Given the description of an element on the screen output the (x, y) to click on. 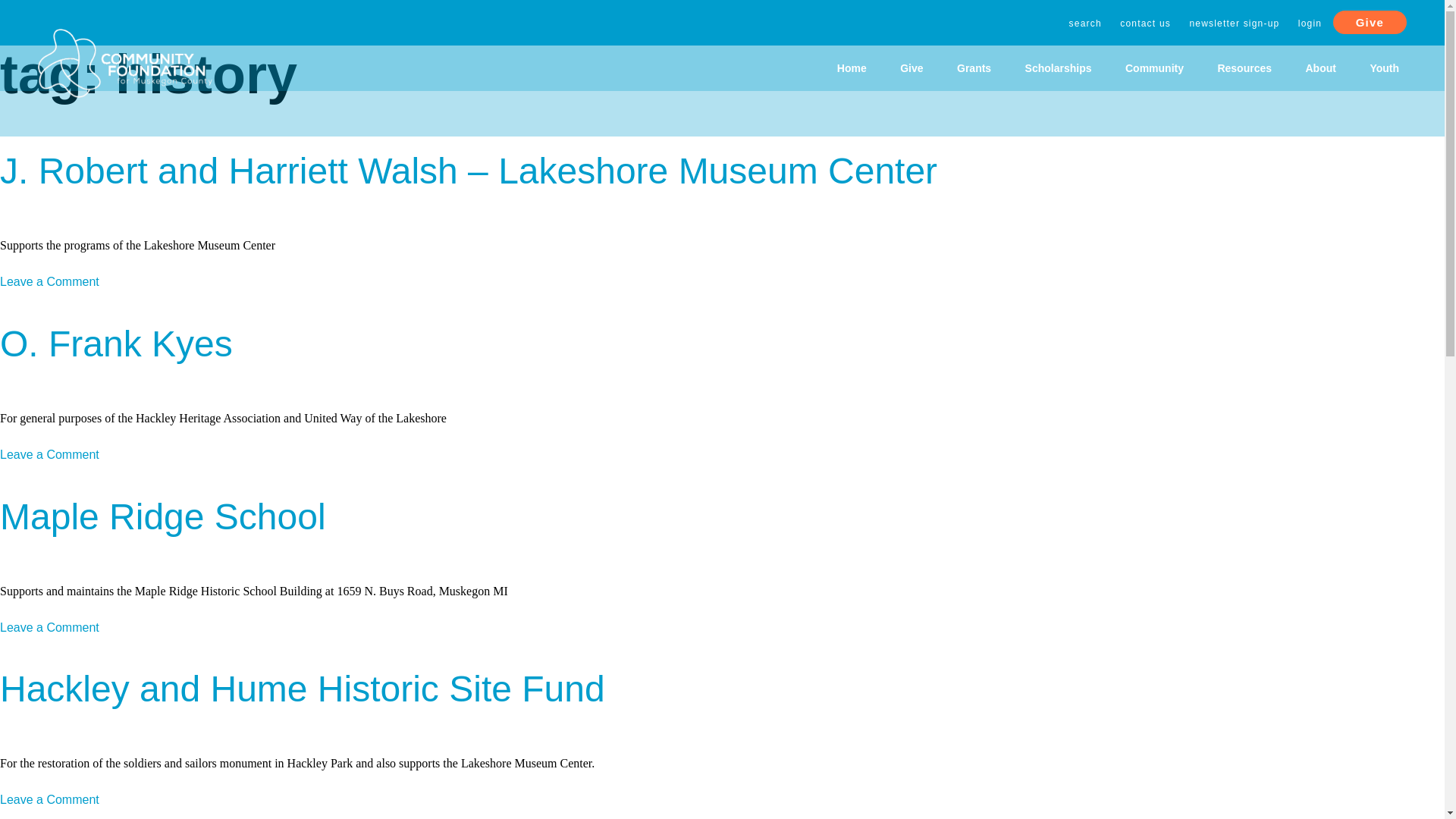
Resources (1244, 67)
newsletter sign-up (1233, 23)
Give (911, 67)
Home (852, 67)
contact us (1144, 23)
search (1085, 23)
Community (1153, 67)
Grants (974, 67)
Give (1369, 22)
login (1309, 23)
